Given the description of an element on the screen output the (x, y) to click on. 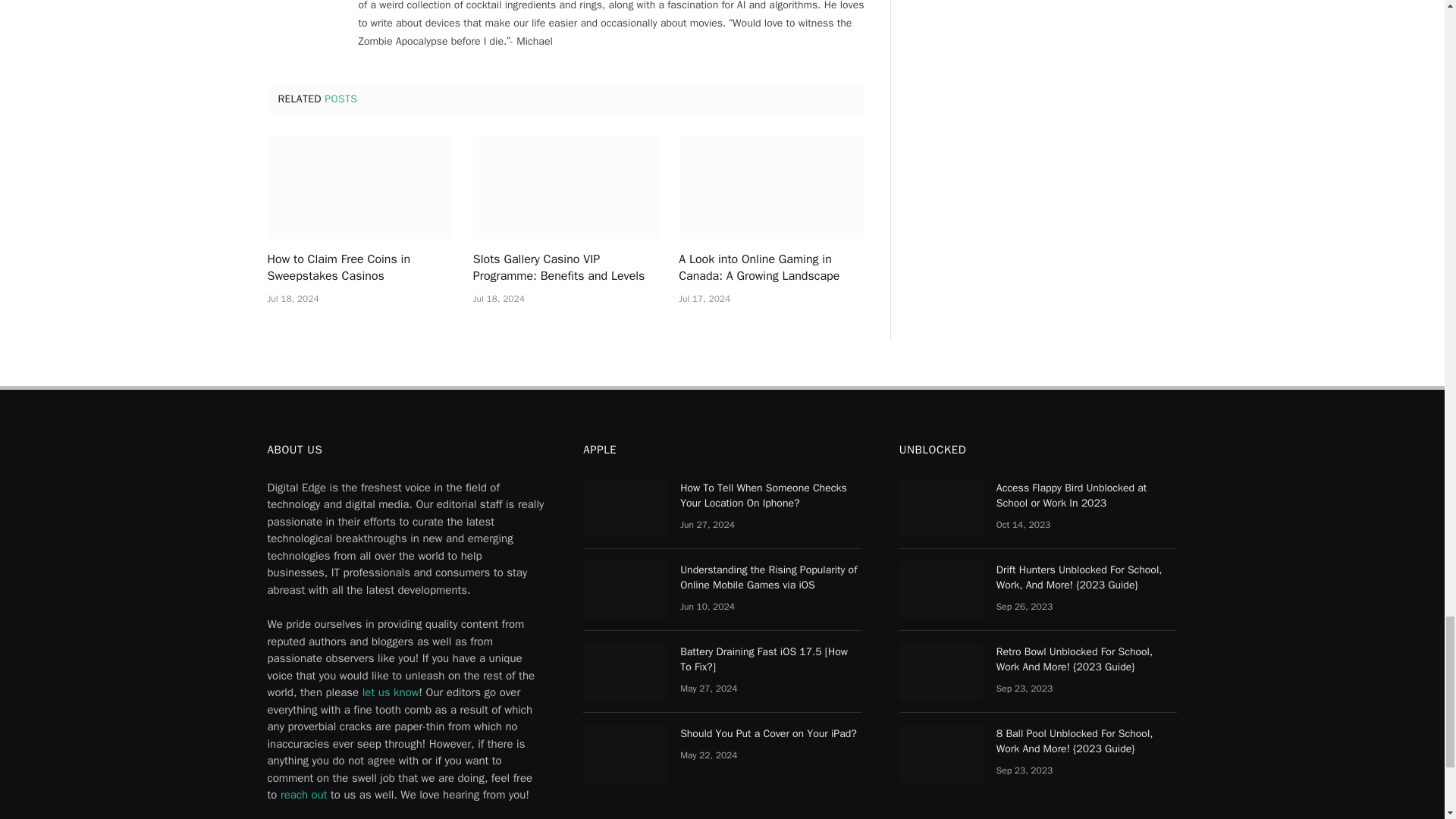
Slots Gallery Casino VIP Programme: Benefits and Levels (566, 187)
How to Claim Free Coins in Sweepstakes Casinos (359, 187)
